Given the description of an element on the screen output the (x, y) to click on. 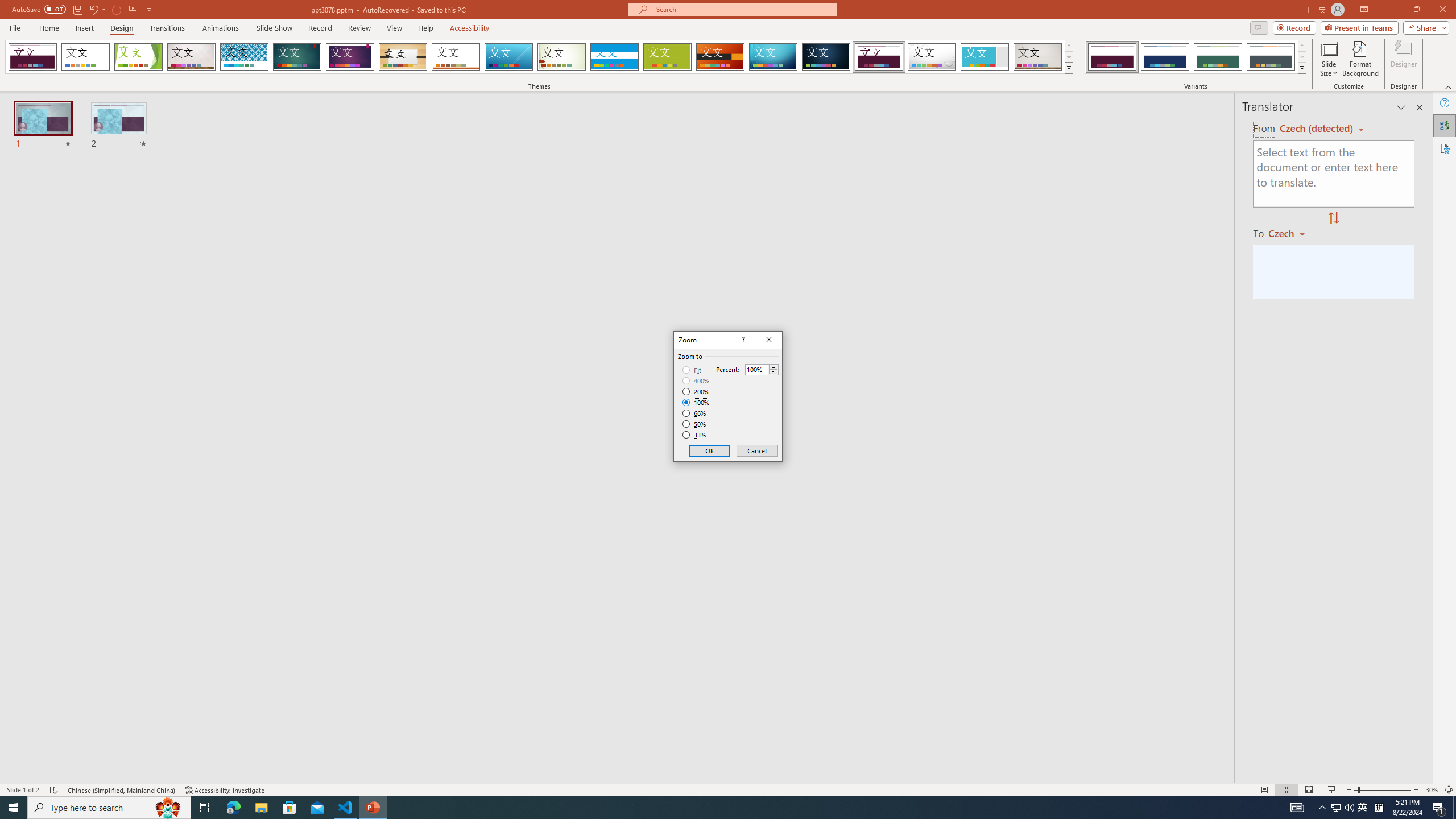
50% (694, 424)
Design (122, 28)
Organic (403, 56)
Redo (117, 9)
AutomationID: ThemeVariantsGallery (1195, 56)
Cancel (756, 450)
Damask (826, 56)
Translator (1444, 125)
Zoom 30% (1431, 790)
Percent (756, 369)
Slide (118, 125)
Visual Studio Code - 1 running window (345, 807)
Dividend Variant 4 (1270, 56)
Ion Boardroom (350, 56)
